Given the description of an element on the screen output the (x, y) to click on. 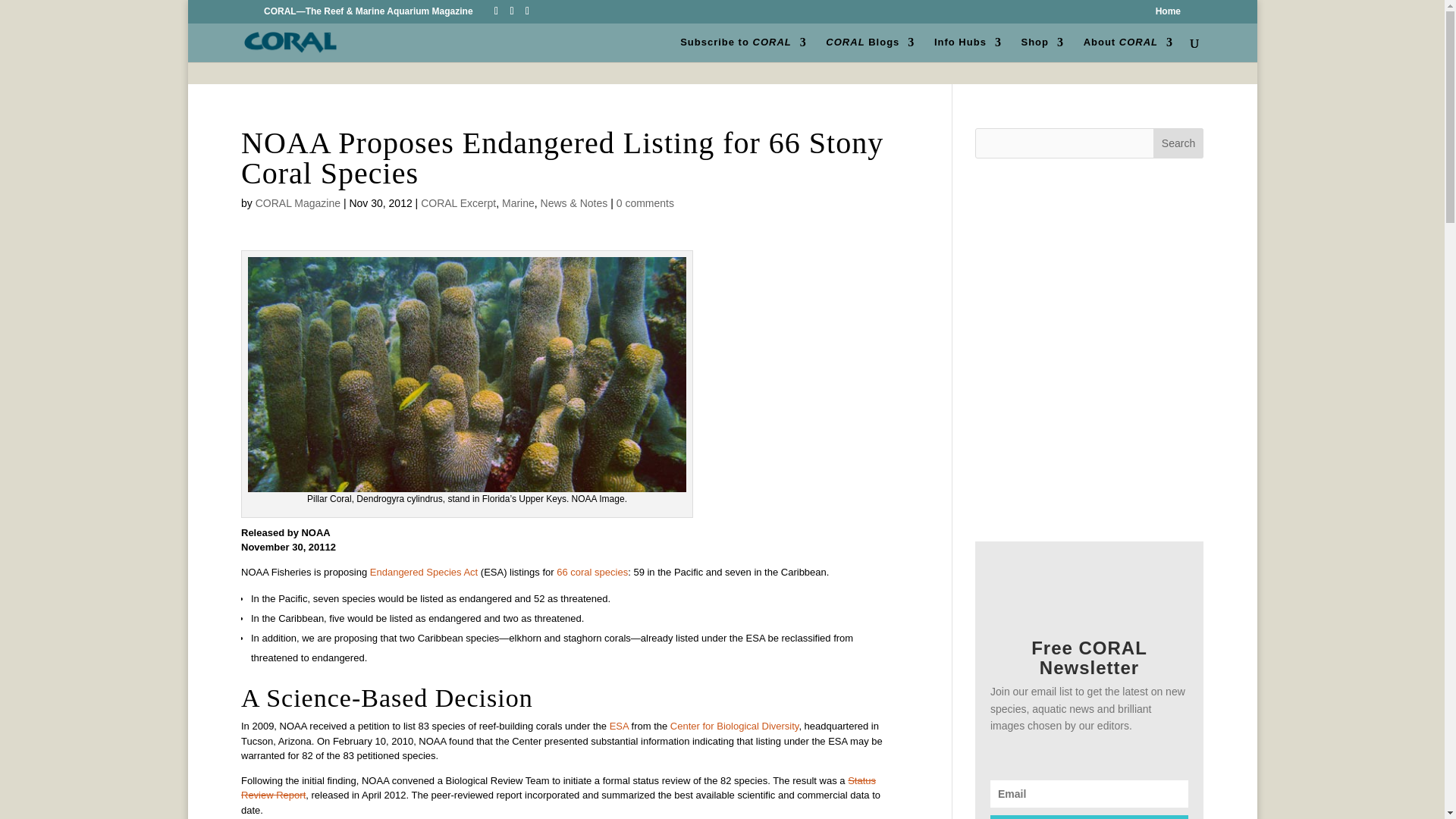
Info Hubs (967, 49)
Subscribe to CORAL (742, 49)
Home (1168, 14)
CORAL Blogs (869, 49)
Subscribe to CORAL Magazine (742, 49)
